Given the description of an element on the screen output the (x, y) to click on. 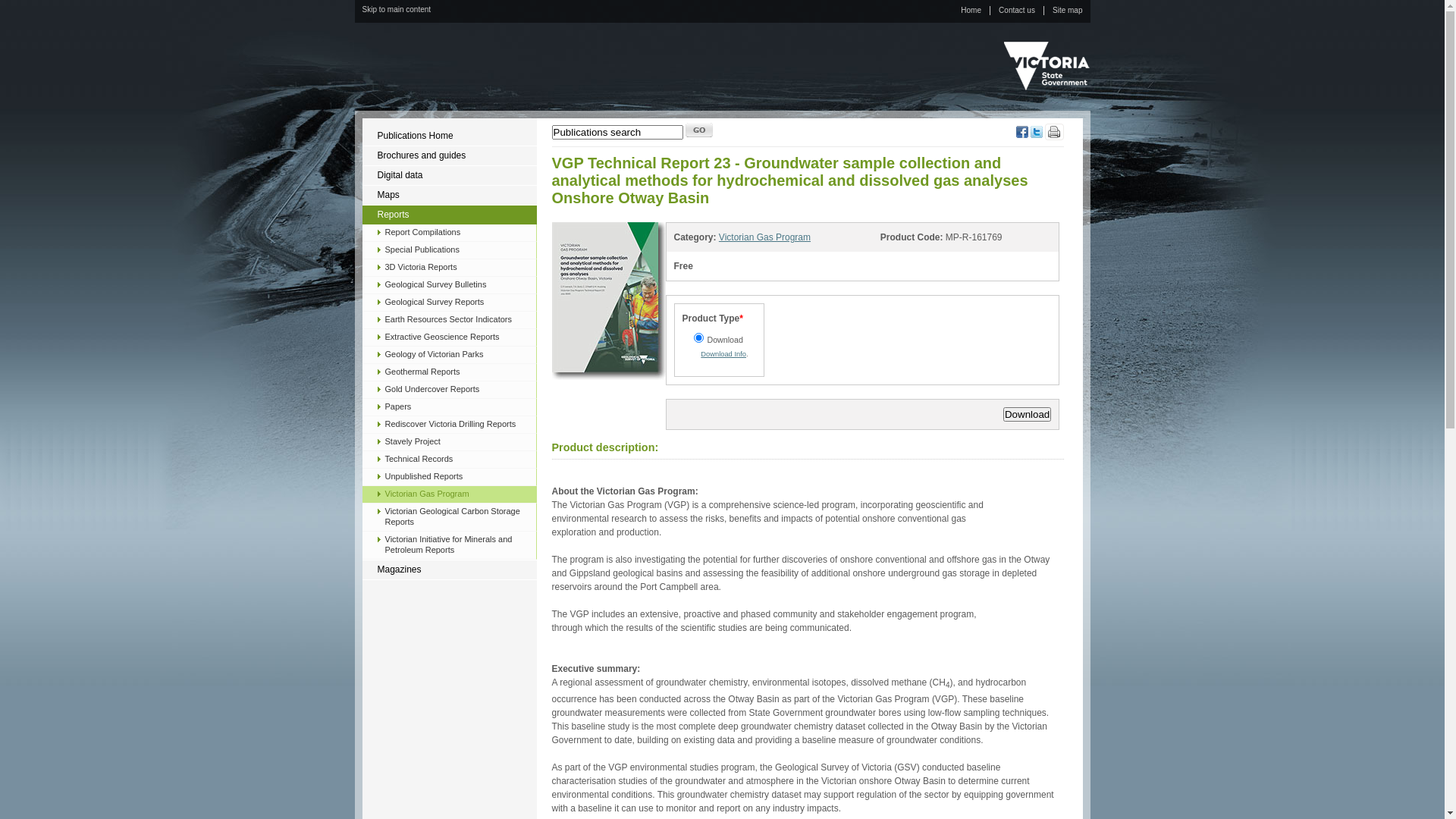
Victorian Geological Carbon Storage Reports Element type: text (449, 516)
Print using printer friendly version of this page Element type: hover (1053, 136)
Share on facebook Element type: hover (1022, 134)
Extractive Geoscience Reports Element type: text (449, 337)
Geothermal Reports Element type: text (449, 372)
Magazines Element type: text (449, 569)
Maps Element type: text (449, 194)
Technical Records Element type: text (449, 459)
Unpublished Reports Element type: text (449, 476)
Skip to main content Element type: text (409, 9)
Special Publications Element type: text (449, 249)
Geology of Victorian Parks Element type: text (449, 354)
Victorian Initiative for Minerals and Petroleum Reports Element type: text (449, 544)
Contact us Element type: text (1016, 10)
Victorian Gas Program Element type: text (764, 237)
Publications Home Element type: text (449, 135)
Home Element type: text (970, 10)
Victorian Gas Program Element type: text (449, 494)
Reports Element type: text (449, 214)
Geological Survey Bulletins Element type: text (449, 284)
Digital data Element type: text (449, 175)
Papers Element type: text (449, 406)
Stavely Project Element type: text (449, 441)
Brochures and guides Element type: text (449, 155)
3D Victoria Reports Element type: text (449, 267)
Download Info Element type: text (723, 353)
Earth Resources Sector Indicators Element type: text (449, 319)
Report Compilations Element type: text (449, 232)
Geological Survey Reports Element type: text (449, 302)
Add To Cart Element type: text (28, 7)
Gold Undercover Reports Element type: text (449, 389)
Download Element type: text (1027, 414)
Site map Element type: text (1067, 10)
36 Element type: text (697, 337)
Rediscover Victoria Drilling Reports Element type: text (449, 424)
